Given the description of an element on the screen output the (x, y) to click on. 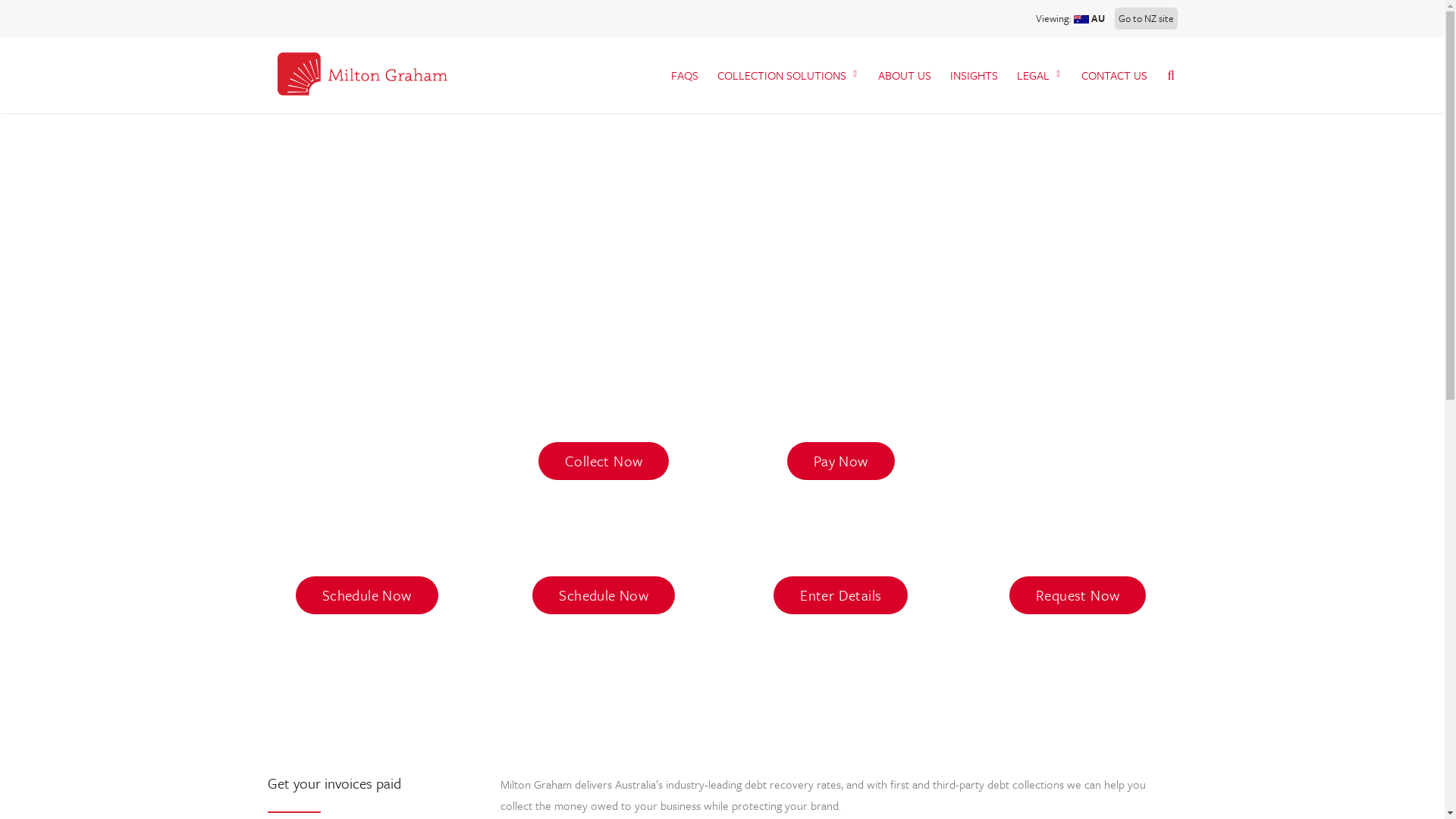
FAQS Element type: text (683, 74)
Go to NZ site Element type: text (1145, 18)
Schedule Now Element type: text (366, 595)
Collect Now Element type: text (603, 461)
Enter Details Element type: text (840, 595)
Request Now Element type: text (1077, 595)
ABOUT US Element type: text (904, 74)
CONTACT US Element type: text (1114, 74)
COLLECTION SOLUTIONS Element type: text (788, 74)
LEGAL Element type: text (1038, 74)
Pay Now Element type: text (840, 461)
Schedule Now Element type: text (603, 595)
INSIGHTS Element type: text (973, 74)
